Given the description of an element on the screen output the (x, y) to click on. 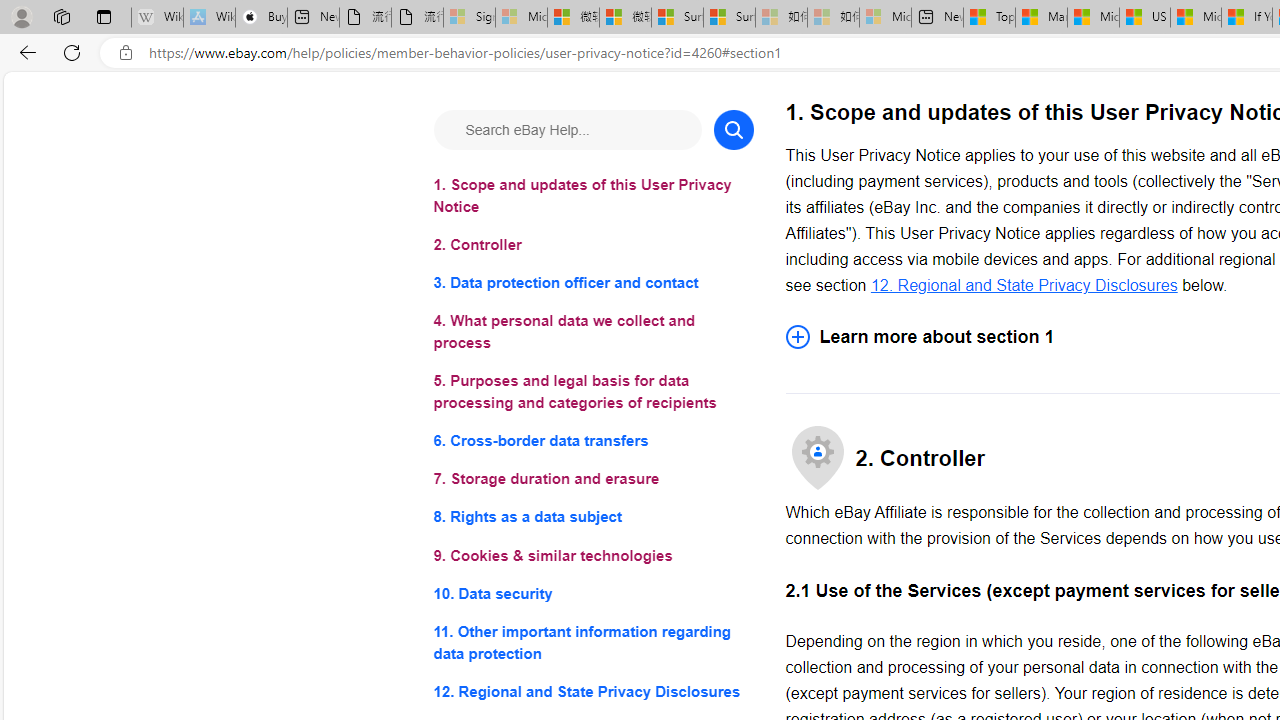
7. Storage duration and erasure (592, 479)
